Given the description of an element on the screen output the (x, y) to click on. 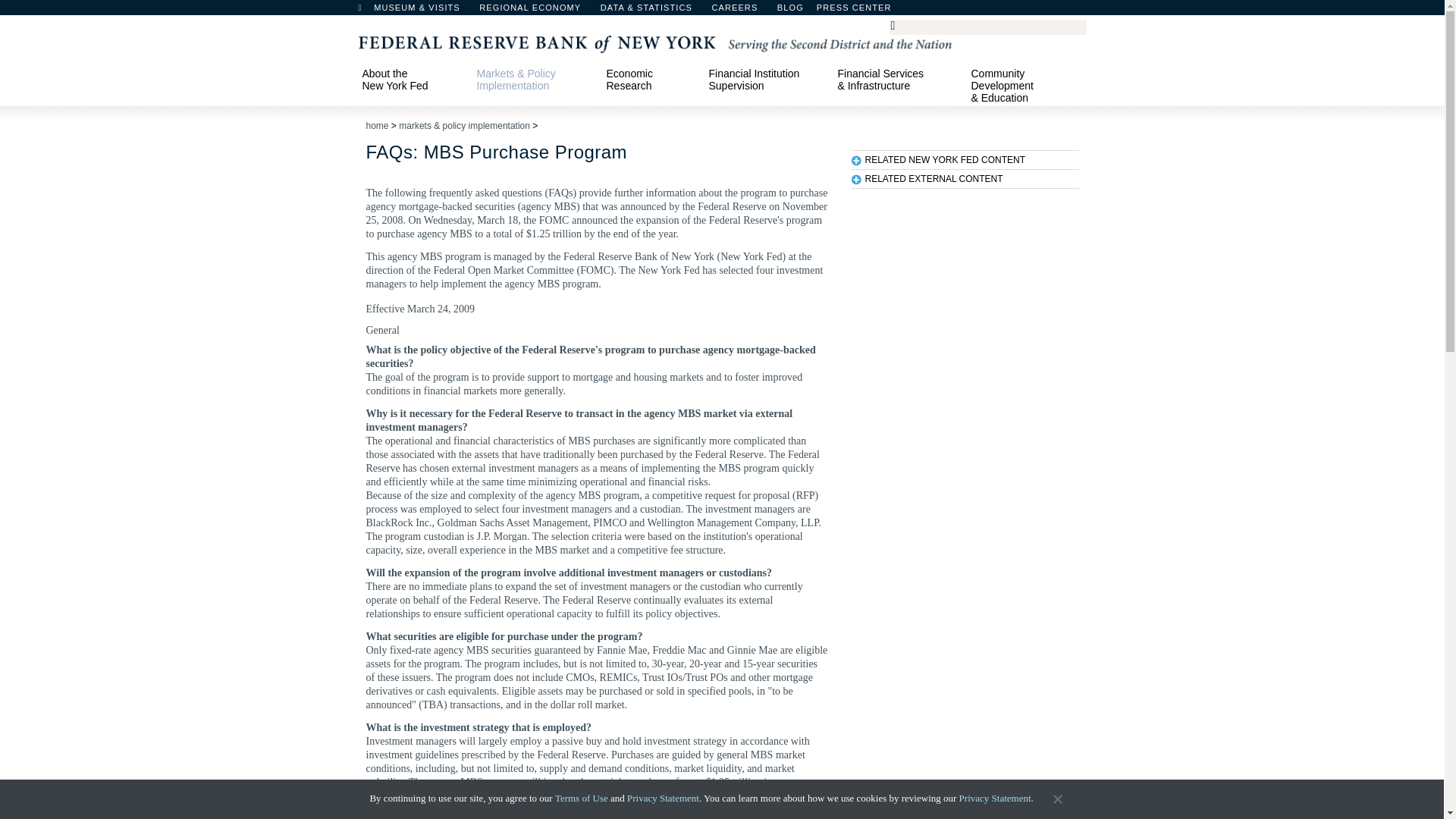
Liberty Street Economics Blog (830, 11)
About the New York Fed (411, 79)
Search Form (987, 27)
Search Box (985, 26)
Regional Economy (537, 11)
Federal Reserve Bank of New York (654, 42)
Press Center (861, 11)
CAREERS (742, 11)
About the New York Fed (411, 79)
Home (367, 11)
